Given the description of an element on the screen output the (x, y) to click on. 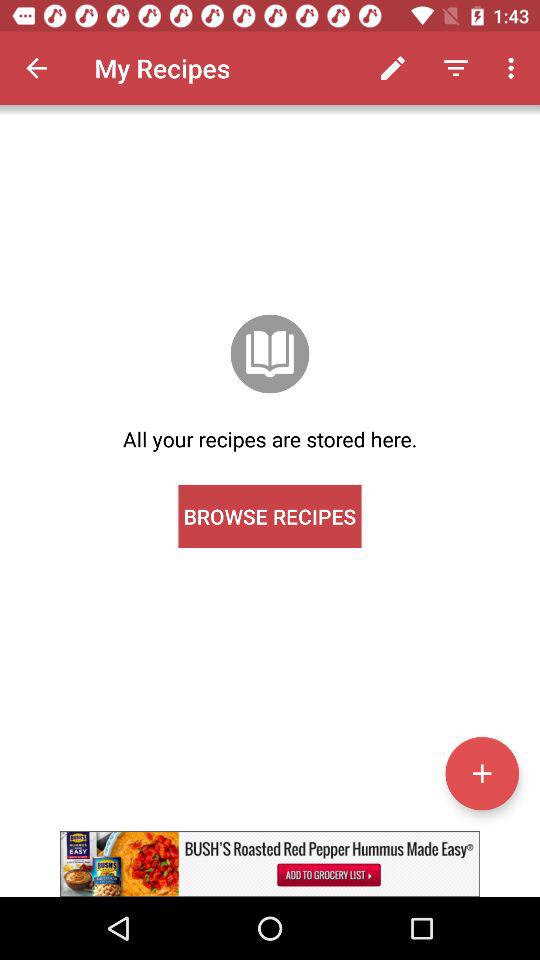
go to advertising advertisement (270, 864)
